Given the description of an element on the screen output the (x, y) to click on. 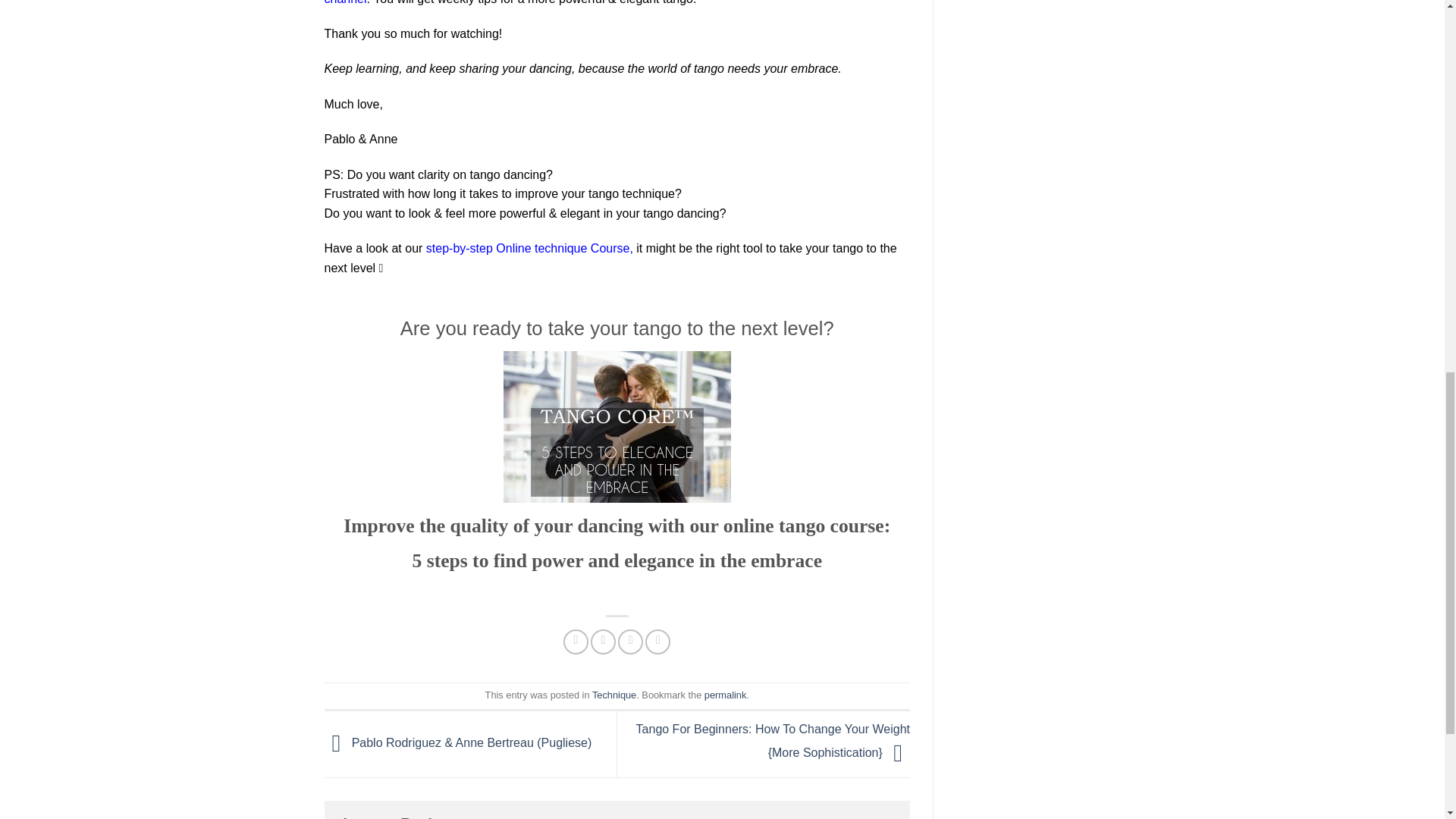
Share on Facebook (575, 641)
Share on Twitter (603, 641)
Email to a Friend (630, 641)
permalink (724, 695)
Pin on Pinterest (657, 641)
Technique (614, 695)
 step-by-step Online technique Course (525, 247)
